Given the description of an element on the screen output the (x, y) to click on. 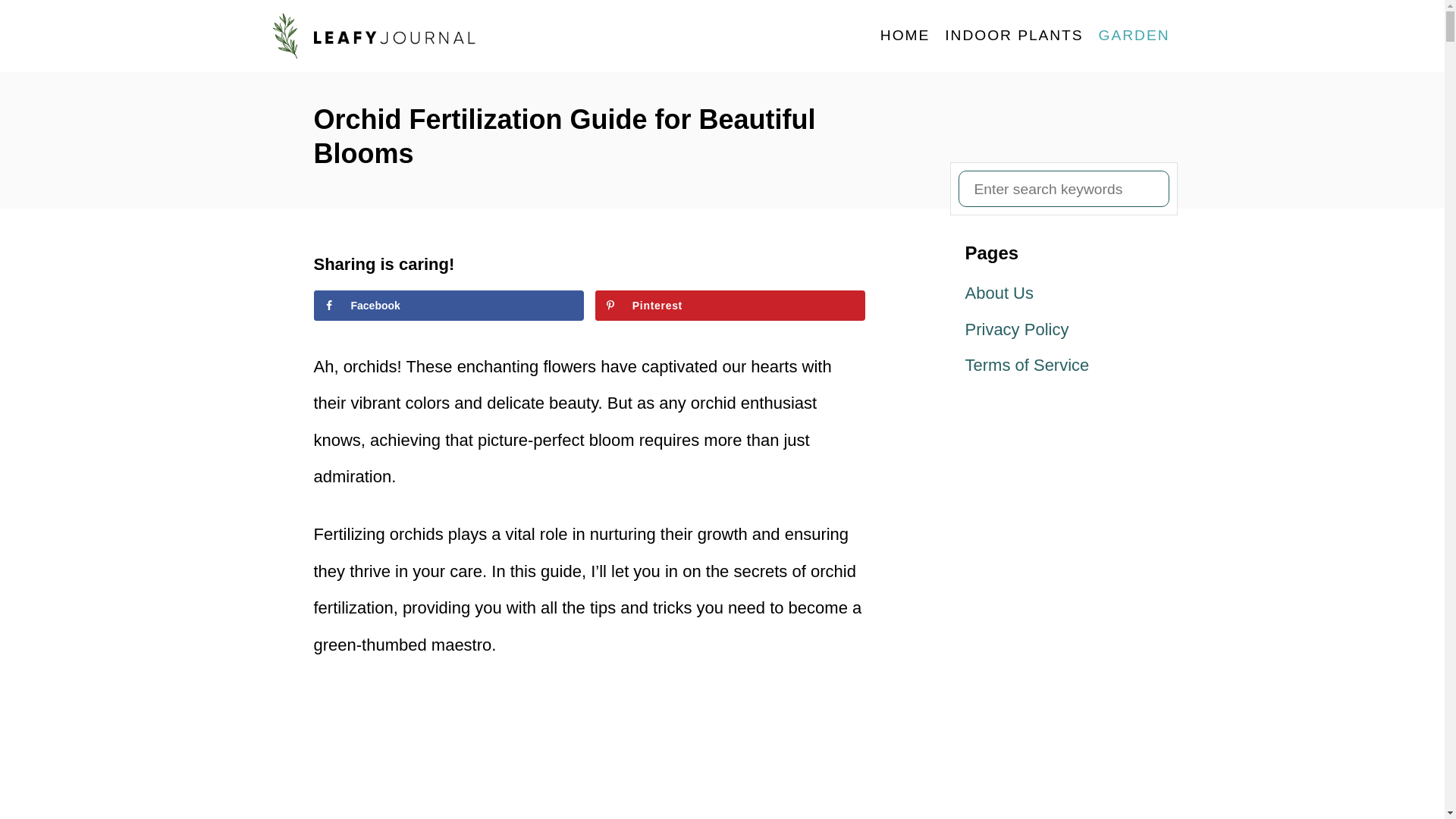
About Us (1062, 293)
Terms of Service (1062, 365)
INDOOR PLANTS (1013, 35)
GARDEN (1133, 35)
Privacy Policy (1062, 330)
Share on Facebook (449, 305)
Search (22, 22)
HOME (904, 35)
Save to Pinterest (730, 305)
LeafyJournal (403, 36)
Search for: (1063, 188)
Pinterest (730, 305)
Facebook (449, 305)
